Given the description of an element on the screen output the (x, y) to click on. 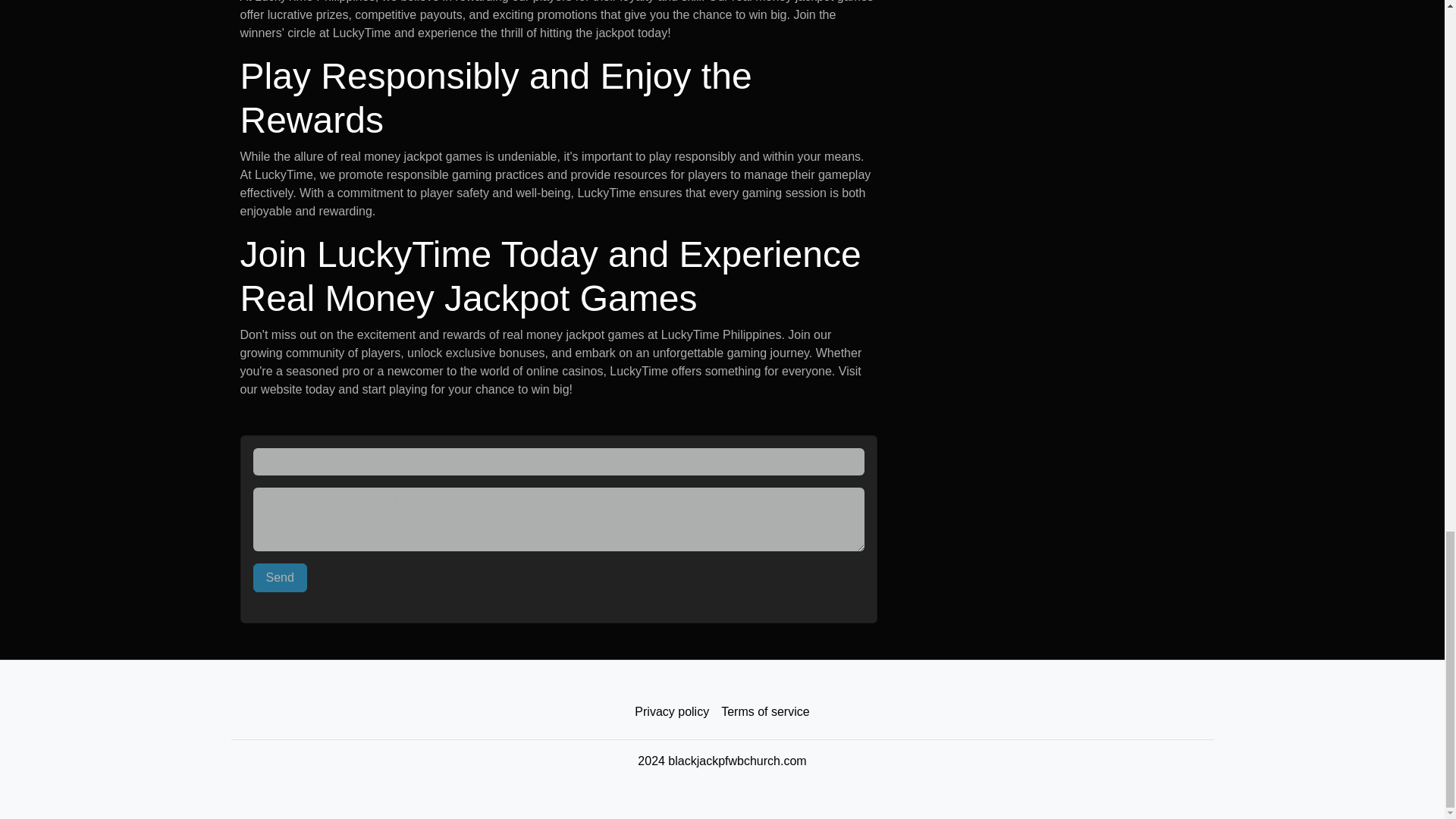
Send (280, 577)
Privacy policy (671, 711)
Send (280, 577)
Terms of service (764, 711)
